Given the description of an element on the screen output the (x, y) to click on. 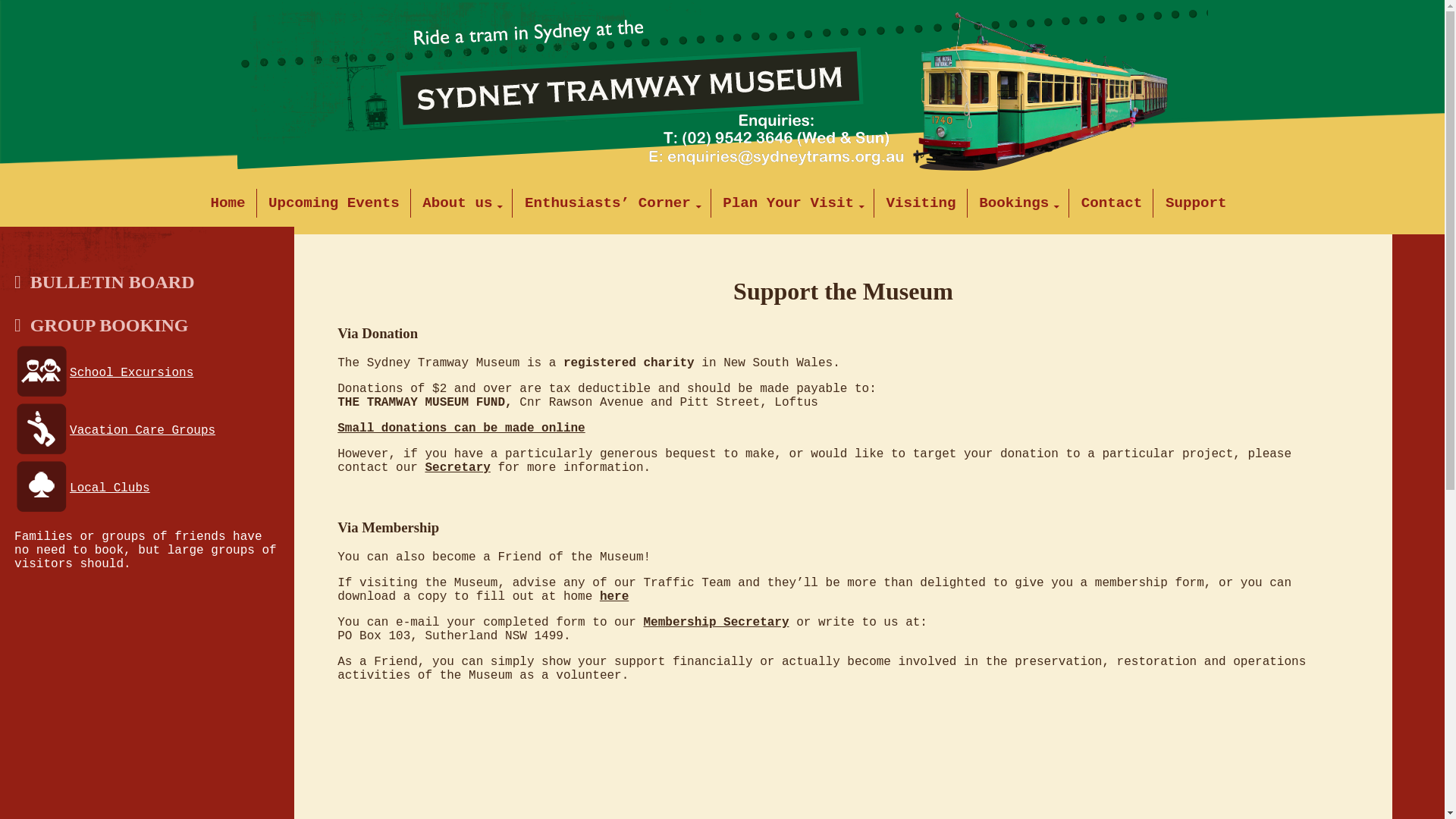
Contact (1115, 203)
Visiting (924, 203)
Bookings (1021, 203)
Plan Your Visit (796, 203)
Home (232, 203)
Support (1199, 203)
Upcoming Events (337, 203)
About us (465, 203)
